Given the description of an element on the screen output the (x, y) to click on. 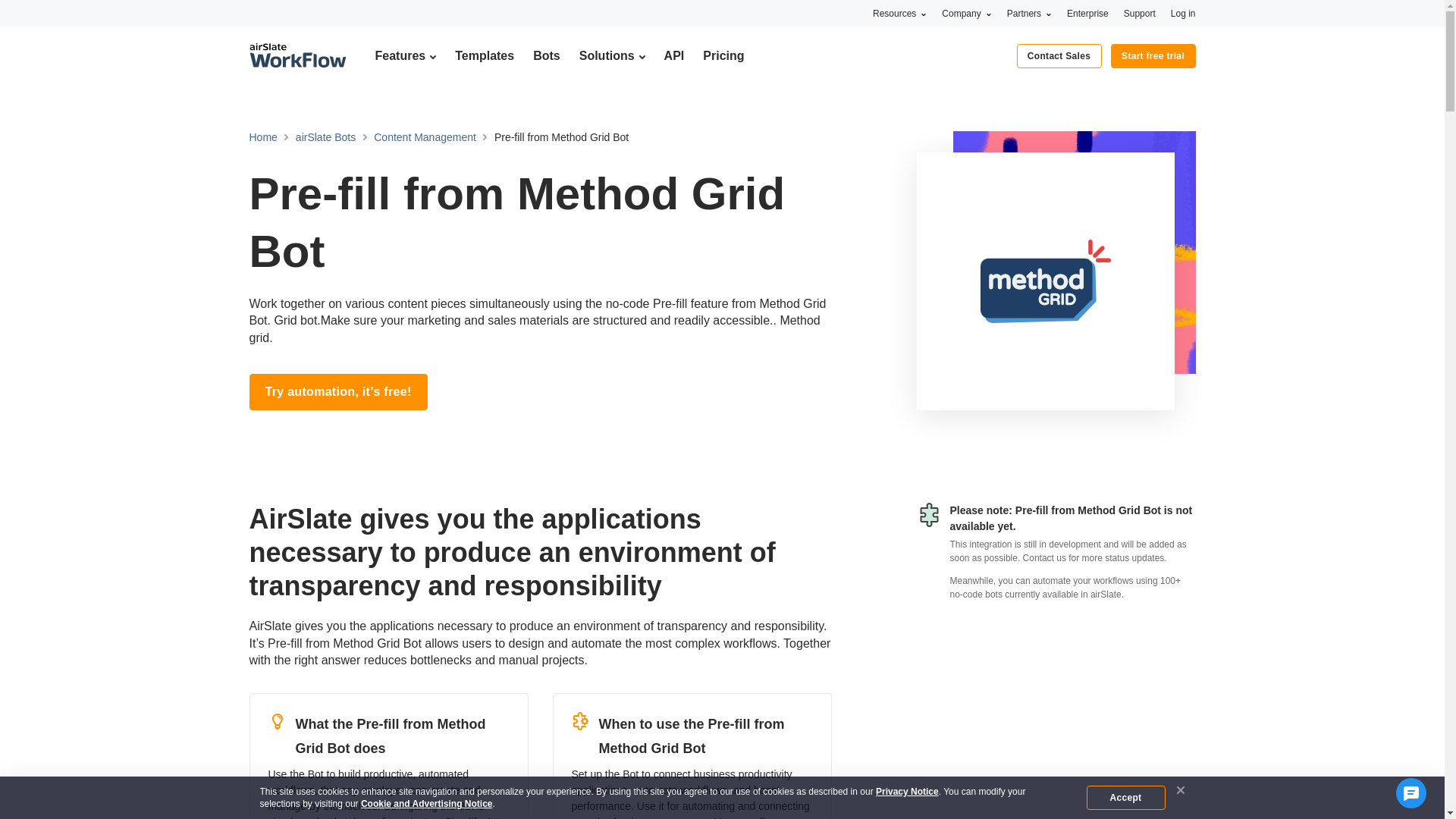
Log in (1182, 13)
Partners (1029, 13)
Company (966, 13)
Support (1140, 13)
Resources (899, 13)
Templates (483, 55)
Enterprise (1087, 13)
